Given the description of an element on the screen output the (x, y) to click on. 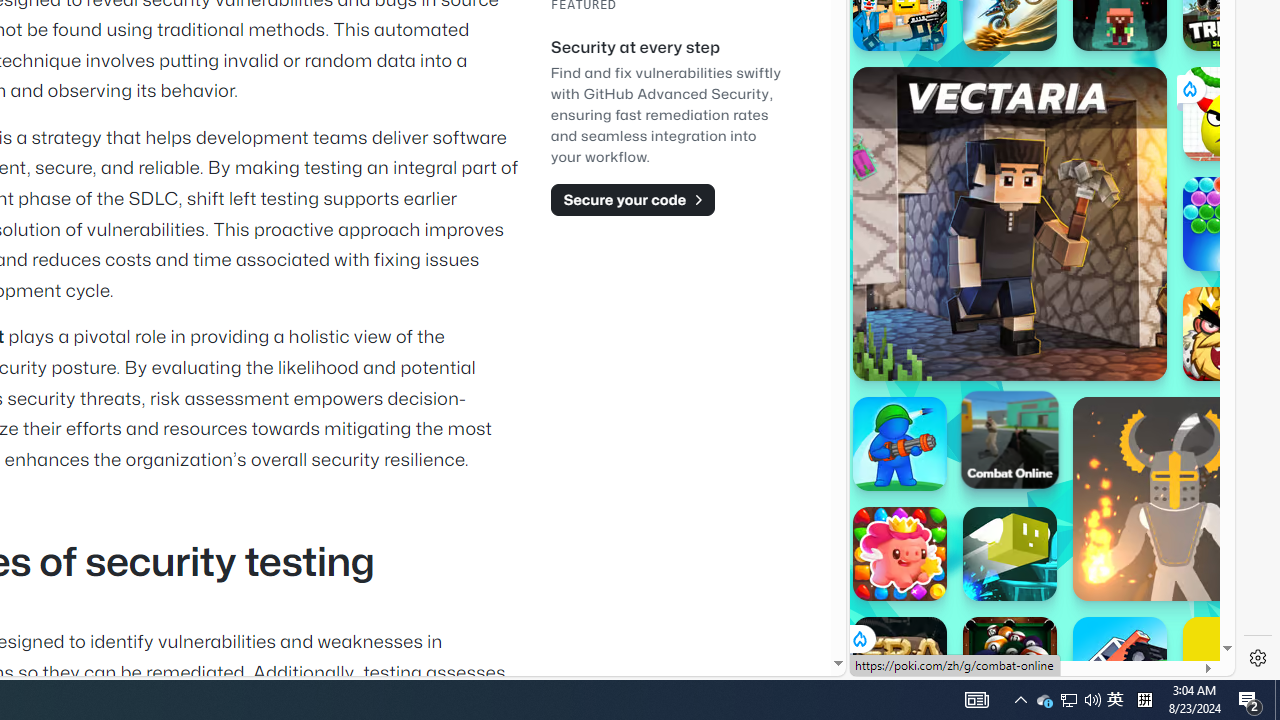
Match Arena Match Arena (899, 553)
Like a King (1229, 333)
